Given the description of an element on the screen output the (x, y) to click on. 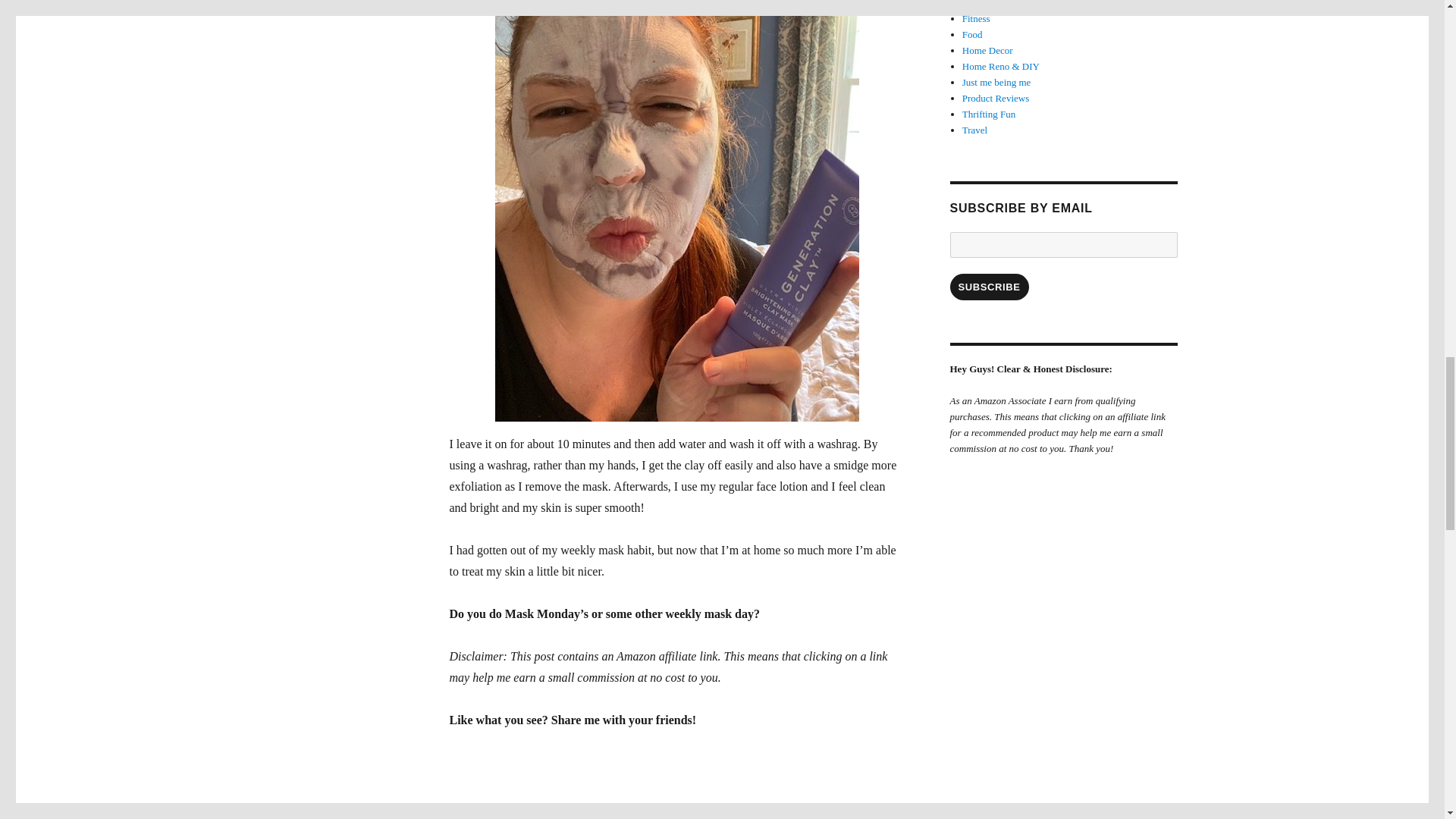
Food (972, 34)
Thrifting Fun (988, 113)
Home Decor (987, 50)
Fashion (977, 4)
Just me being me (996, 81)
Fitness (976, 18)
Product Reviews (995, 98)
Travel (974, 129)
